Given the description of an element on the screen output the (x, y) to click on. 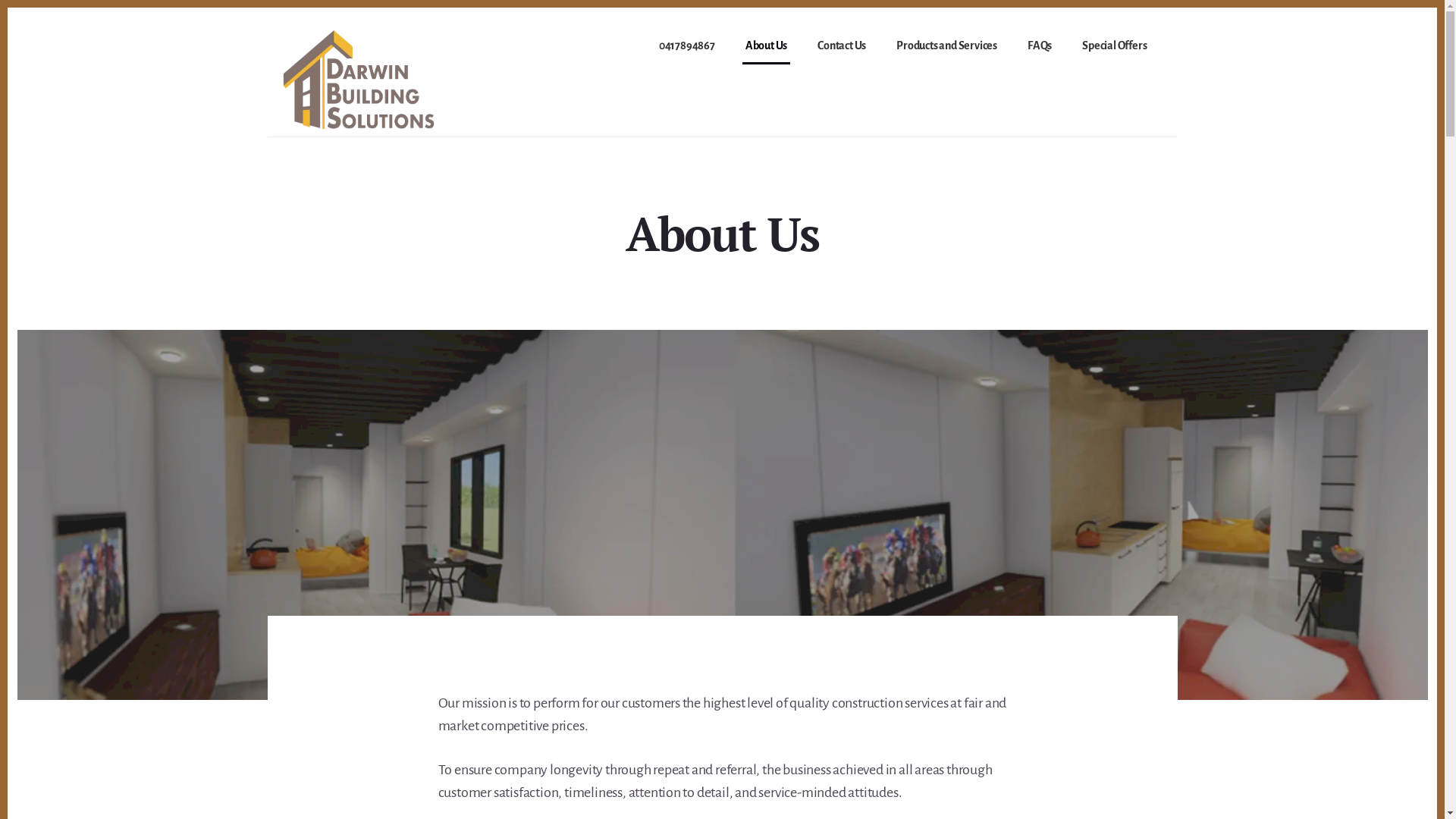
Contact Us Element type: text (841, 46)
Special Offers Element type: text (1114, 46)
Skip to content Element type: text (7, 7)
0417894867 Element type: text (686, 46)
Products and Services Element type: text (946, 46)
About Us Element type: text (766, 46)
FAQs Element type: text (1039, 46)
